Given the description of an element on the screen output the (x, y) to click on. 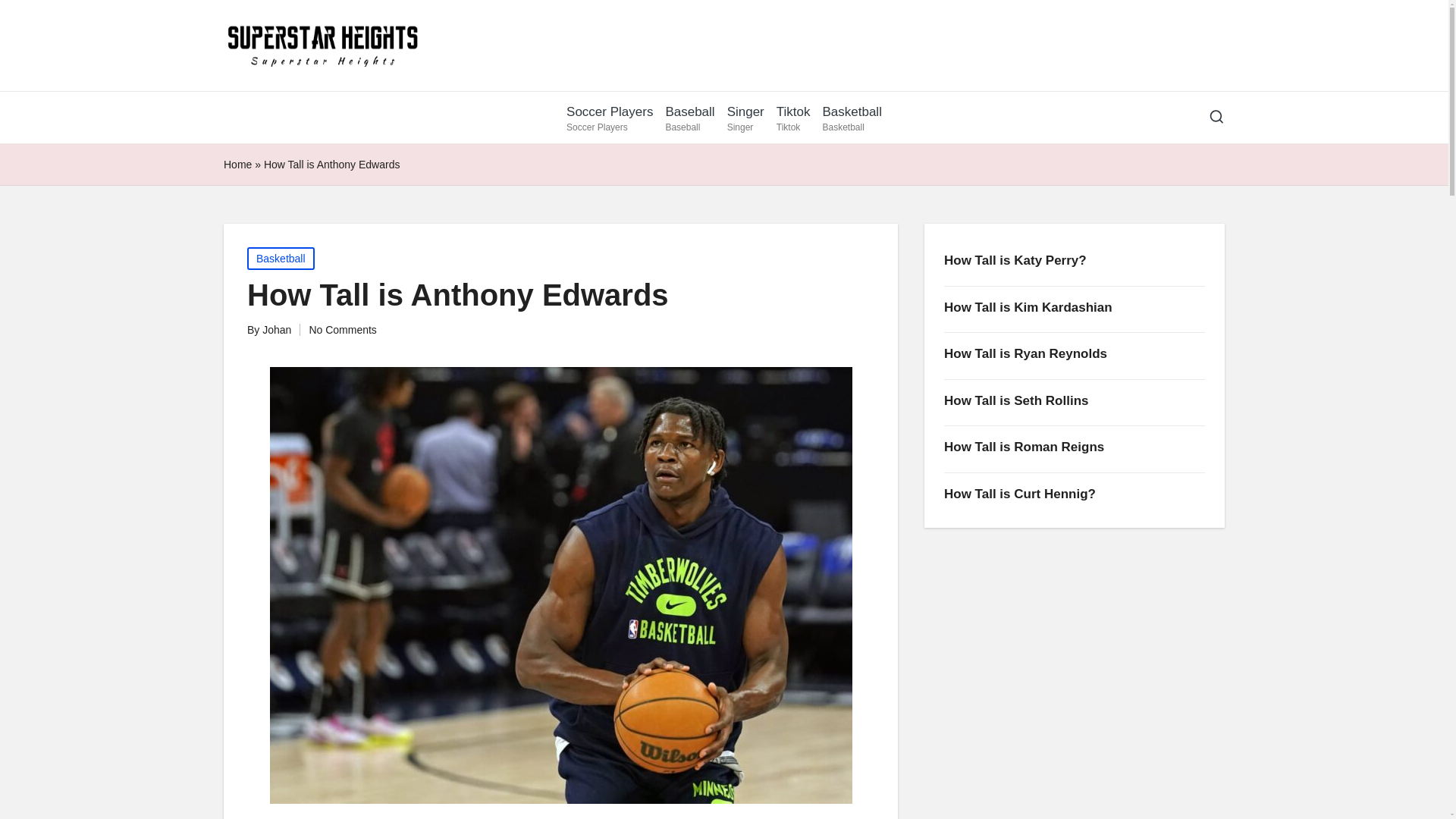
Basketball (851, 117)
View all posts by Johan (280, 258)
How Tall is Katy Perry? (276, 329)
How Tall is Kim Kardashian (1074, 260)
No Comments (1074, 307)
Johan (689, 117)
Home (341, 329)
How Tall is Ryan Reynolds (276, 329)
